Given the description of an element on the screen output the (x, y) to click on. 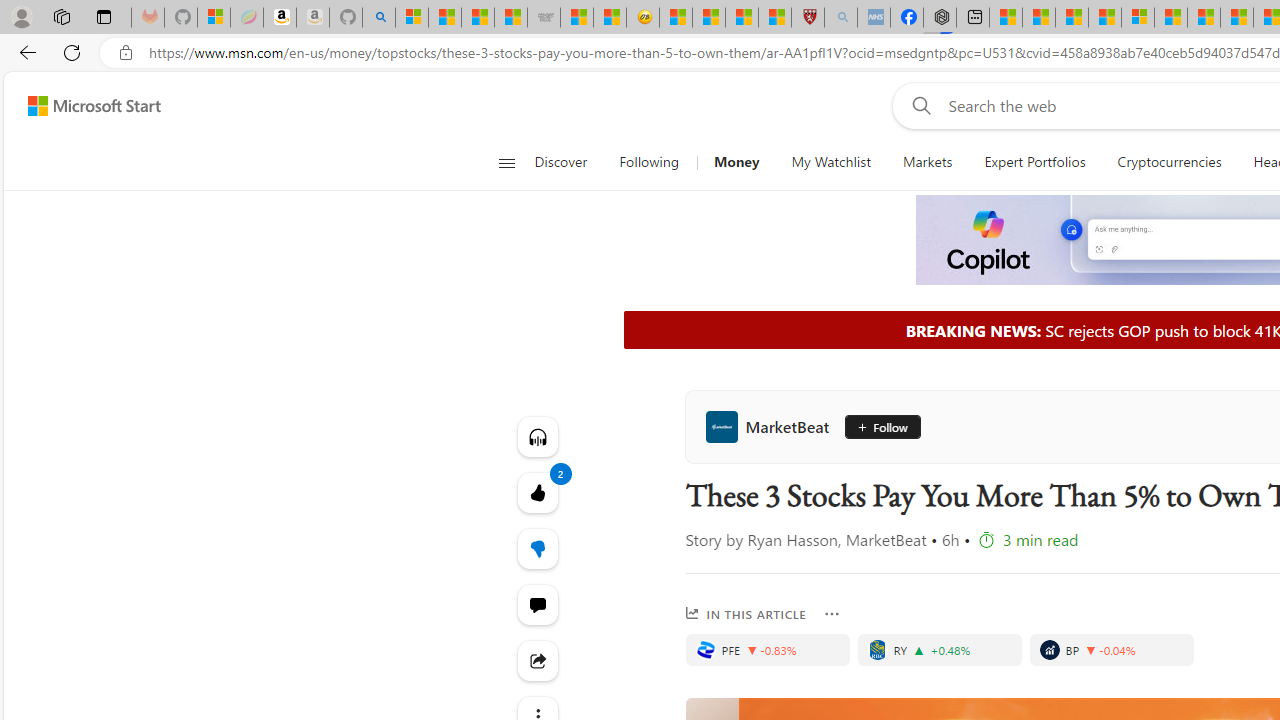
Markets (927, 162)
2Fewer like this (537, 548)
Listen to this article (537, 436)
